Given the description of an element on the screen output the (x, y) to click on. 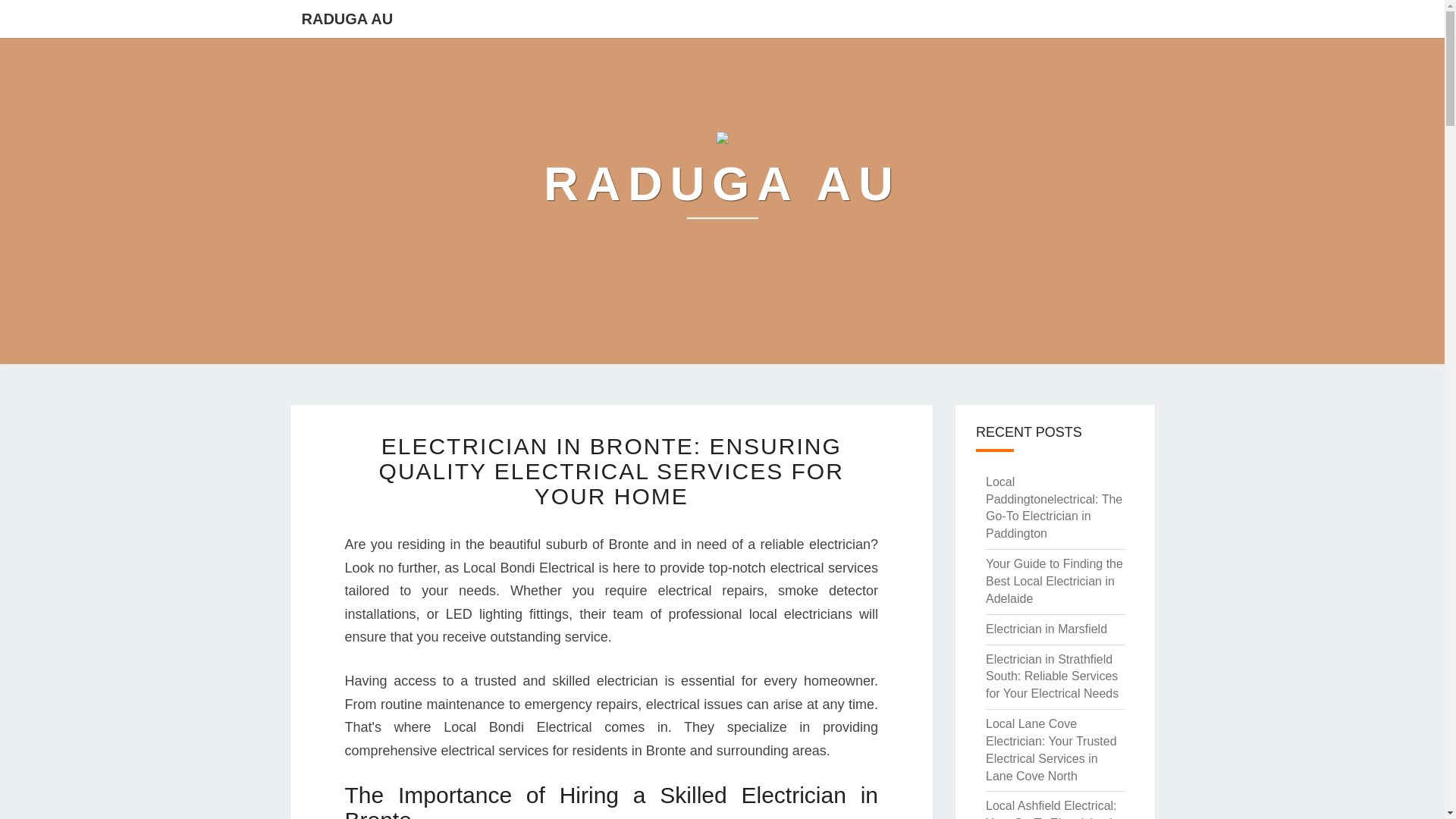
Electrician in Marsfield (1045, 628)
RADUGA AU (721, 184)
Raduga AU (721, 184)
RADUGA AU (346, 18)
Your Guide to Finding the Best Local Electrician in Adelaide (1053, 581)
